Given the description of an element on the screen output the (x, y) to click on. 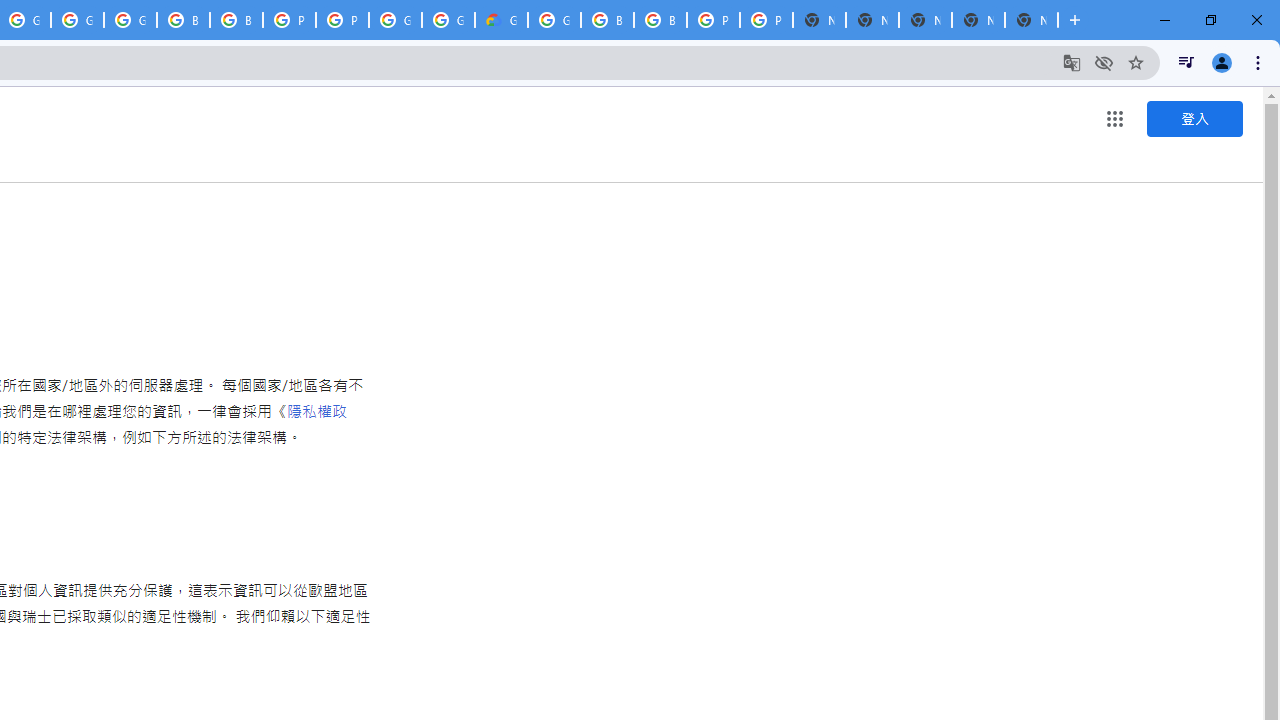
Browse Chrome as a guest - Computer - Google Chrome Help (660, 20)
Google Cloud Platform (554, 20)
Browse Chrome as a guest - Computer - Google Chrome Help (235, 20)
